Given the description of an element on the screen output the (x, y) to click on. 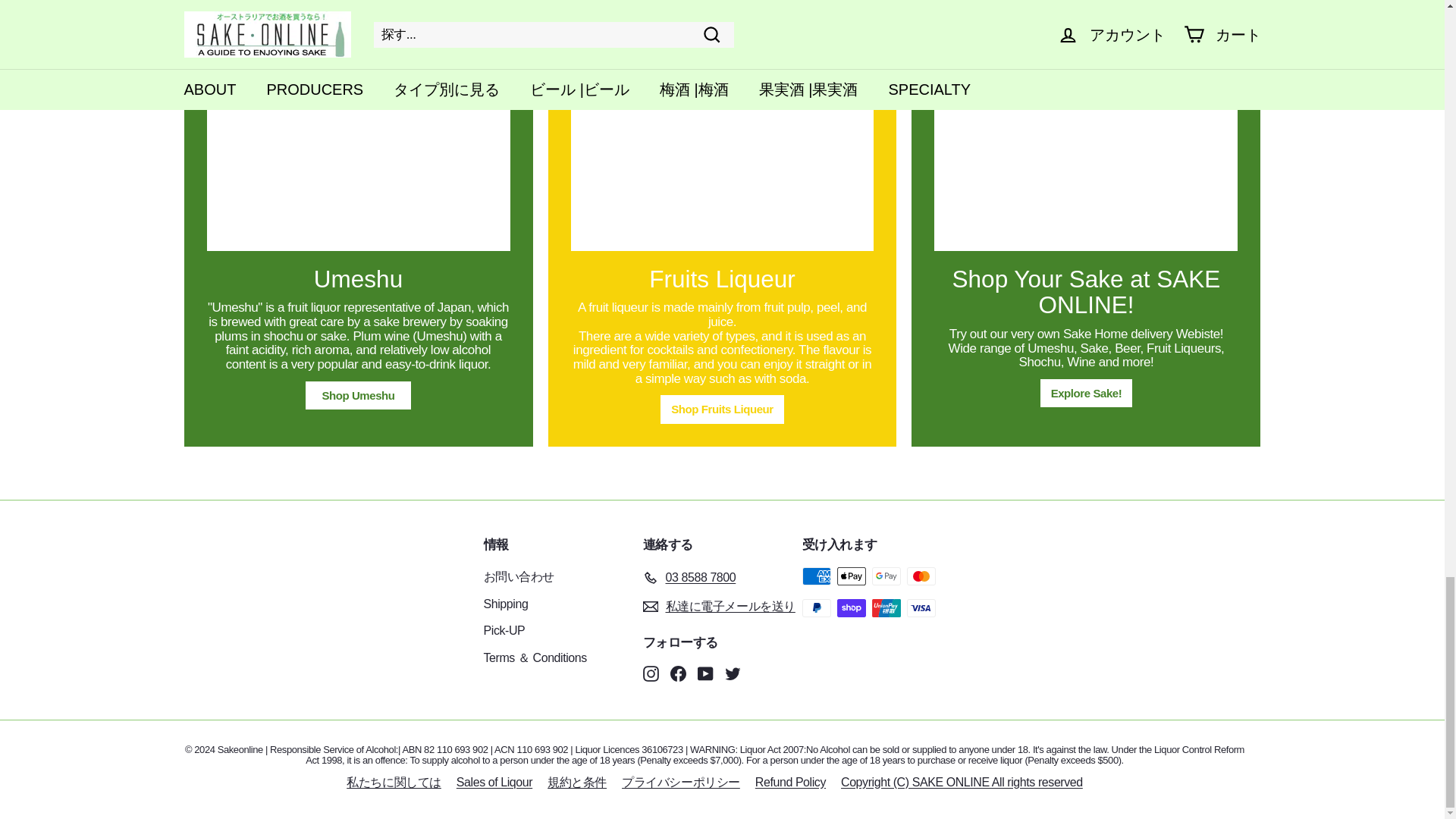
American Express (816, 576)
Google Pay (886, 576)
Mastercard (921, 576)
Apple Pay (851, 576)
